Given the description of an element on the screen output the (x, y) to click on. 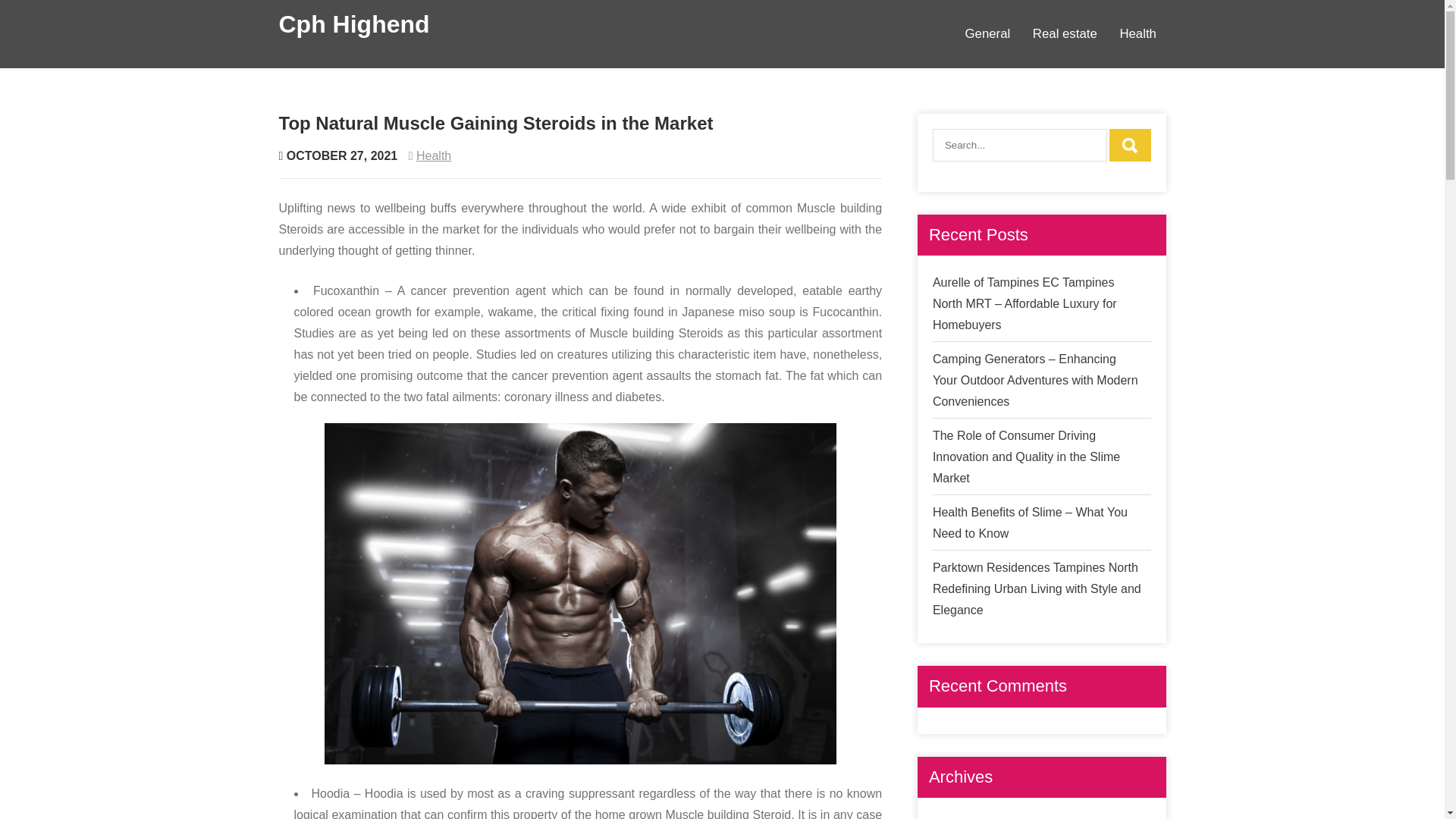
Real estate (1064, 33)
Cph Highend (354, 23)
Health (433, 155)
Search (1130, 144)
General (987, 33)
Search (1130, 144)
Search (1130, 144)
July 2024 (959, 818)
